Given the description of an element on the screen output the (x, y) to click on. 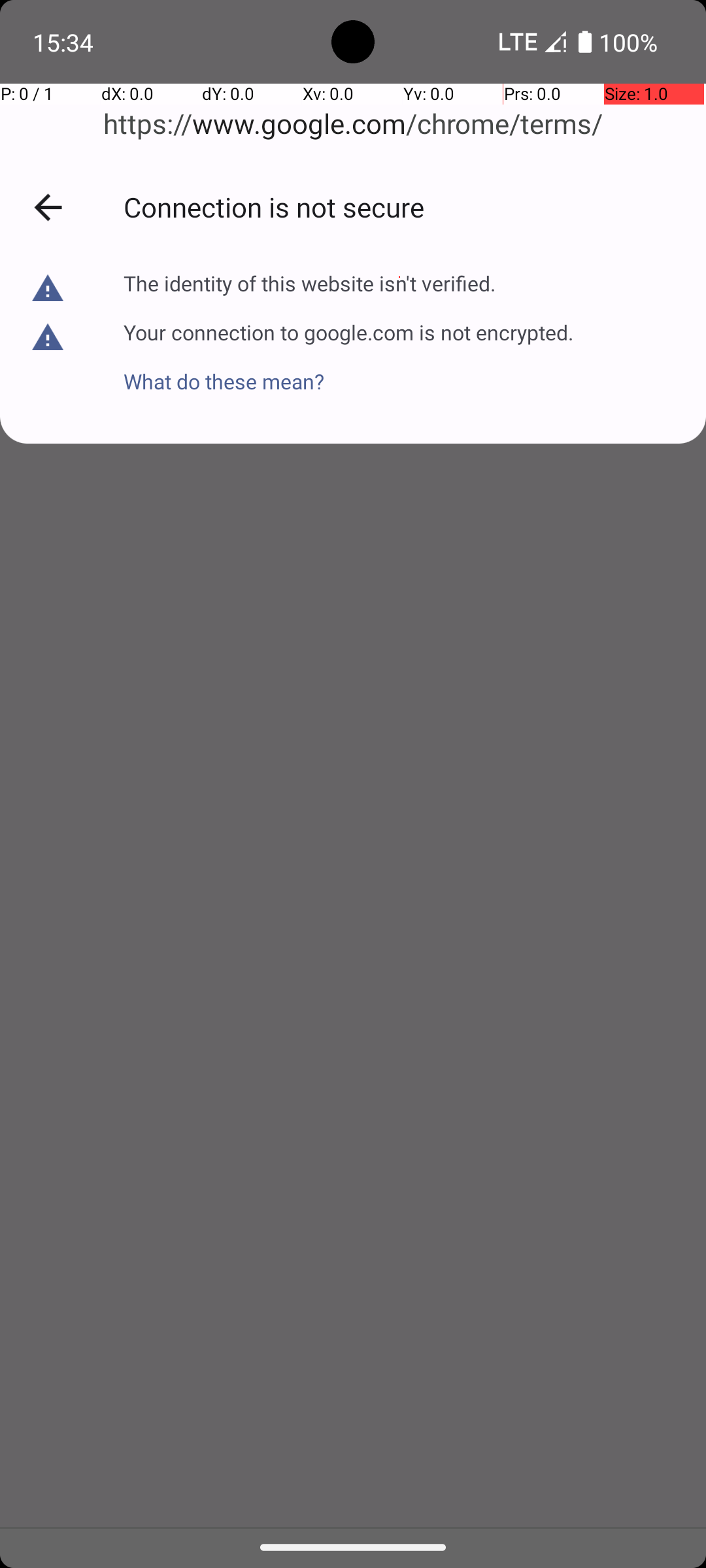
The identity of this website isn't verified. Element type: android.widget.TextView (311, 283)
Your connection to google.com is not encrypted. Element type: android.widget.TextView (348, 330)
What do these mean? Element type: android.widget.TextView (348, 368)
